Given the description of an element on the screen output the (x, y) to click on. 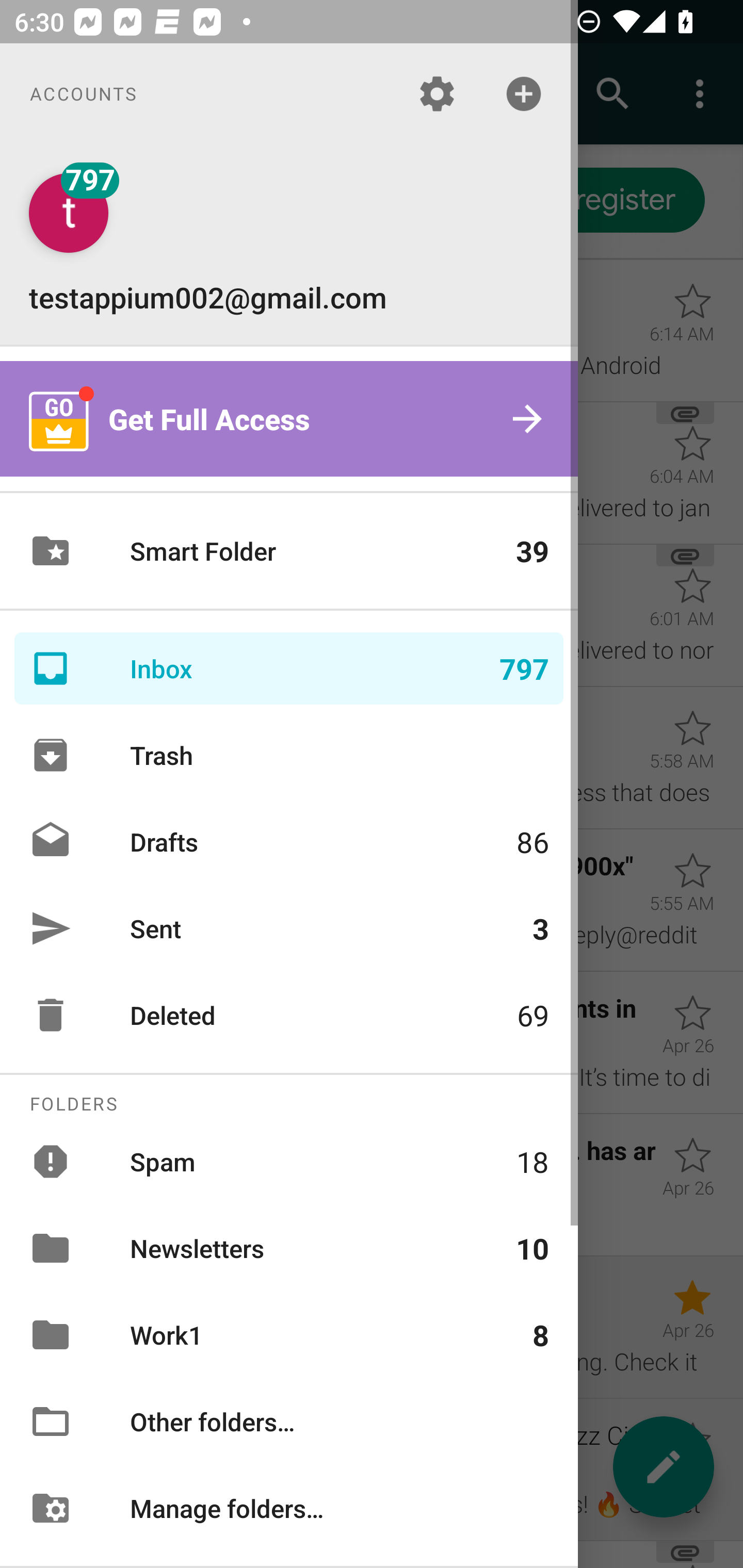
testappium002@gmail.com (289, 244)
Get Full Access (289, 418)
Smart Folder 39 (289, 551)
Inbox 797 (289, 668)
Trash (289, 754)
Drafts 86 (289, 841)
Sent 3 (289, 928)
Deleted 69 (289, 1015)
Spam 18 (289, 1160)
Newsletters 10 (289, 1248)
Work1 8 (289, 1335)
Other folders… (289, 1421)
Manage folders… (289, 1507)
